Given the description of an element on the screen output the (x, y) to click on. 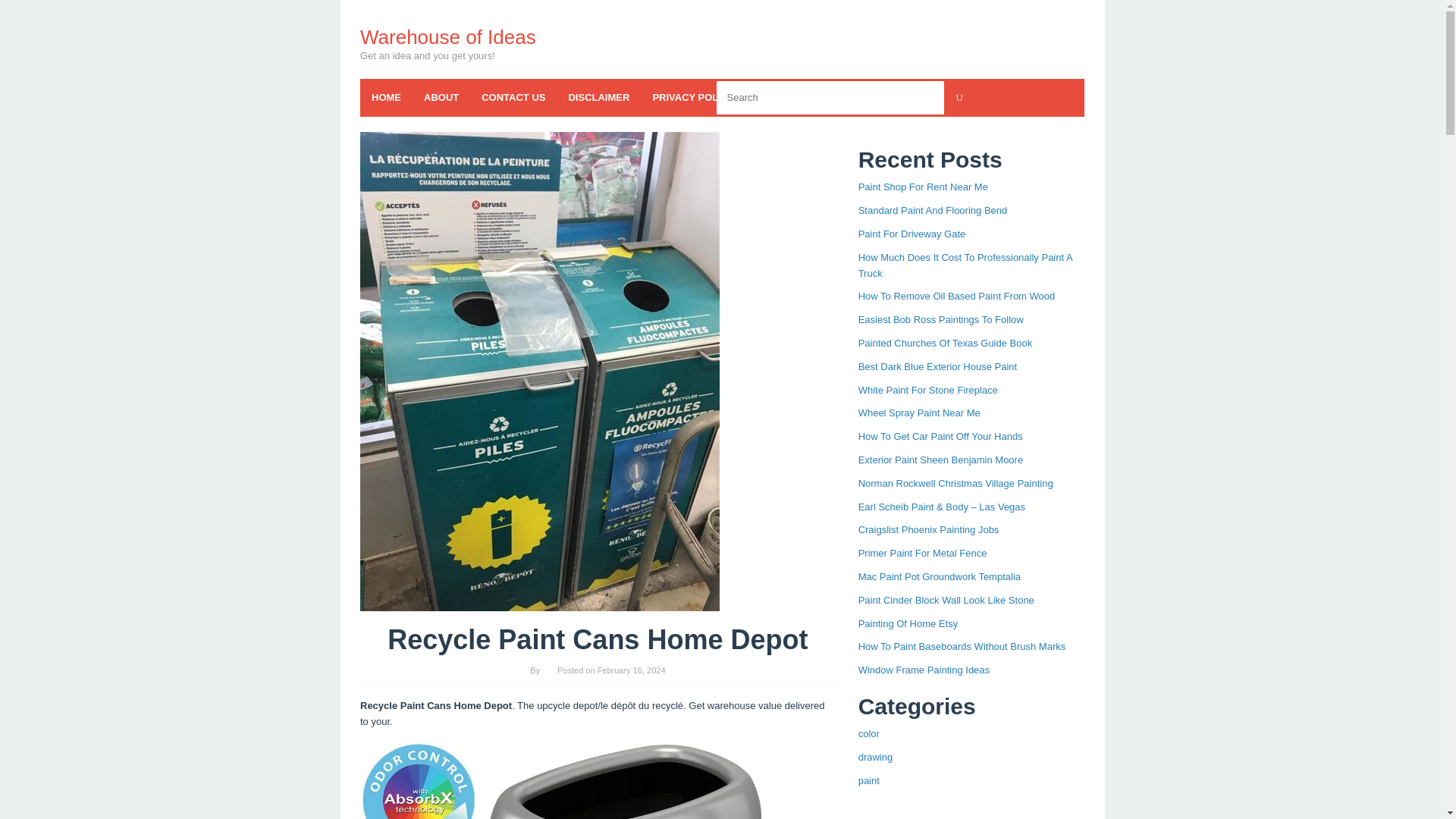
Norman Rockwell Christmas Village Painting (955, 482)
Wheel Spray Paint Near Me (919, 412)
Warehouse of Ideas (447, 36)
Painted Churches Of Texas Guide Book (945, 342)
DISCLAIMER (598, 97)
Mac Paint Pot Groundwork Temptalia (939, 576)
Exterior Paint Sheen Benjamin Moore (941, 460)
PRIVACY POLICY (692, 97)
White Paint For Stone Fireplace (928, 389)
How To Get Car Paint Off Your Hands (941, 436)
